Given the description of an element on the screen output the (x, y) to click on. 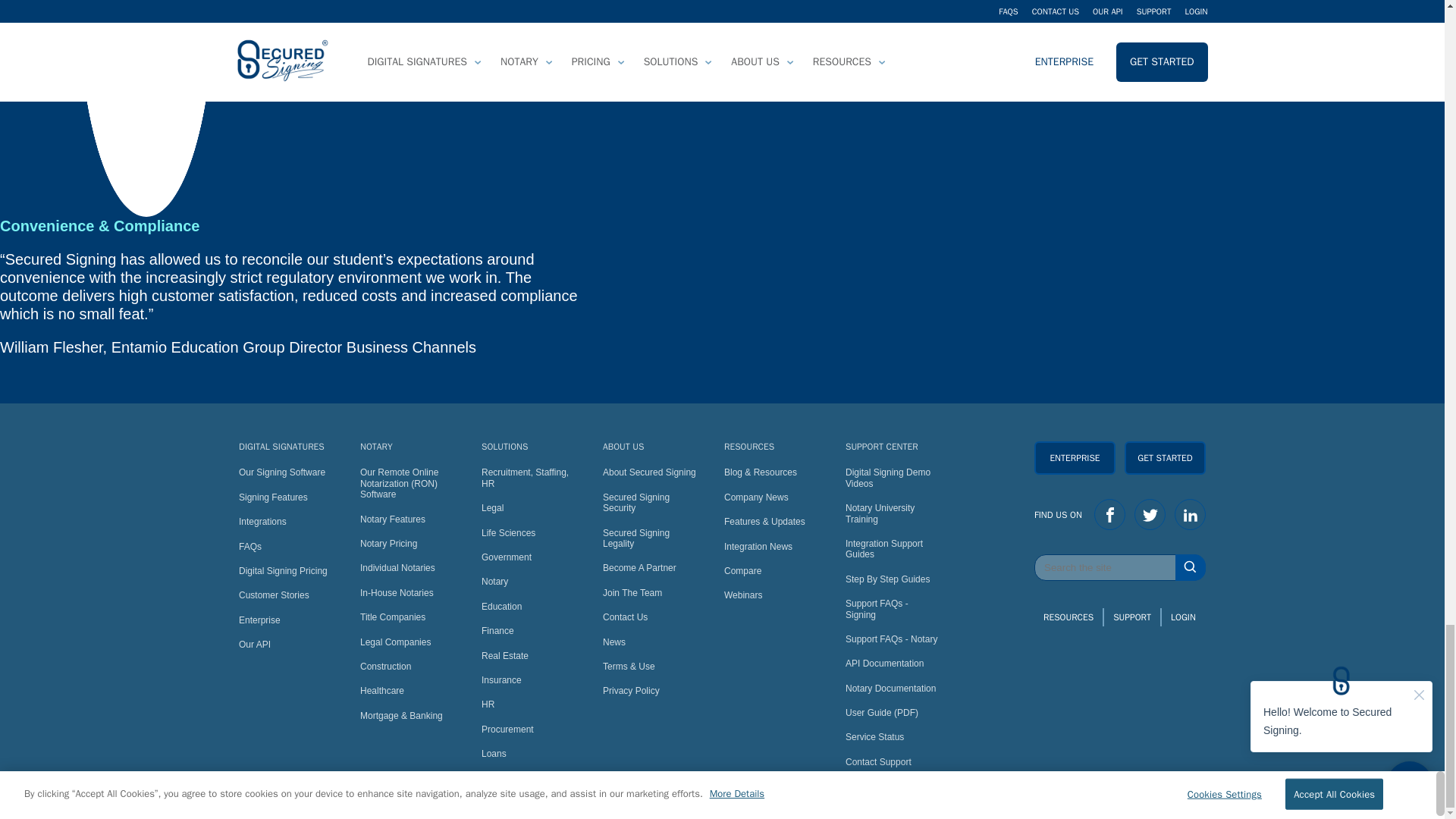
Search (1119, 567)
